Given the description of an element on the screen output the (x, y) to click on. 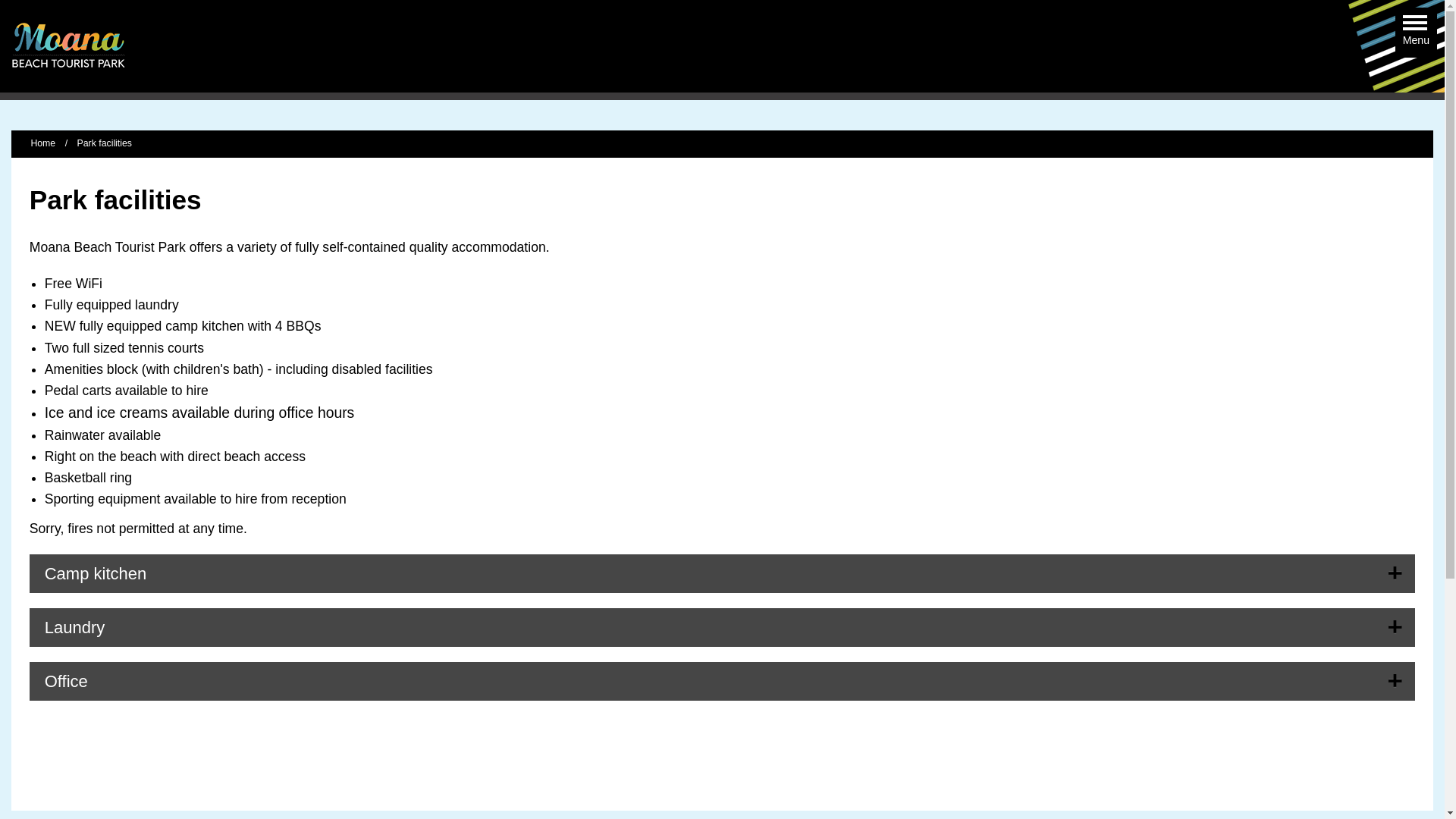
(show below)
Laundry
(show below) Element type: text (722, 627)
Home - Moana Beach Tourist Park - Logo Element type: text (68, 45)
Home Element type: text (42, 143)
(show below)
Camp kitchen
(show below) Element type: text (722, 573)
Menu Element type: text (1415, 24)
(show below)
Office
(show below) Element type: text (722, 681)
